Given the description of an element on the screen output the (x, y) to click on. 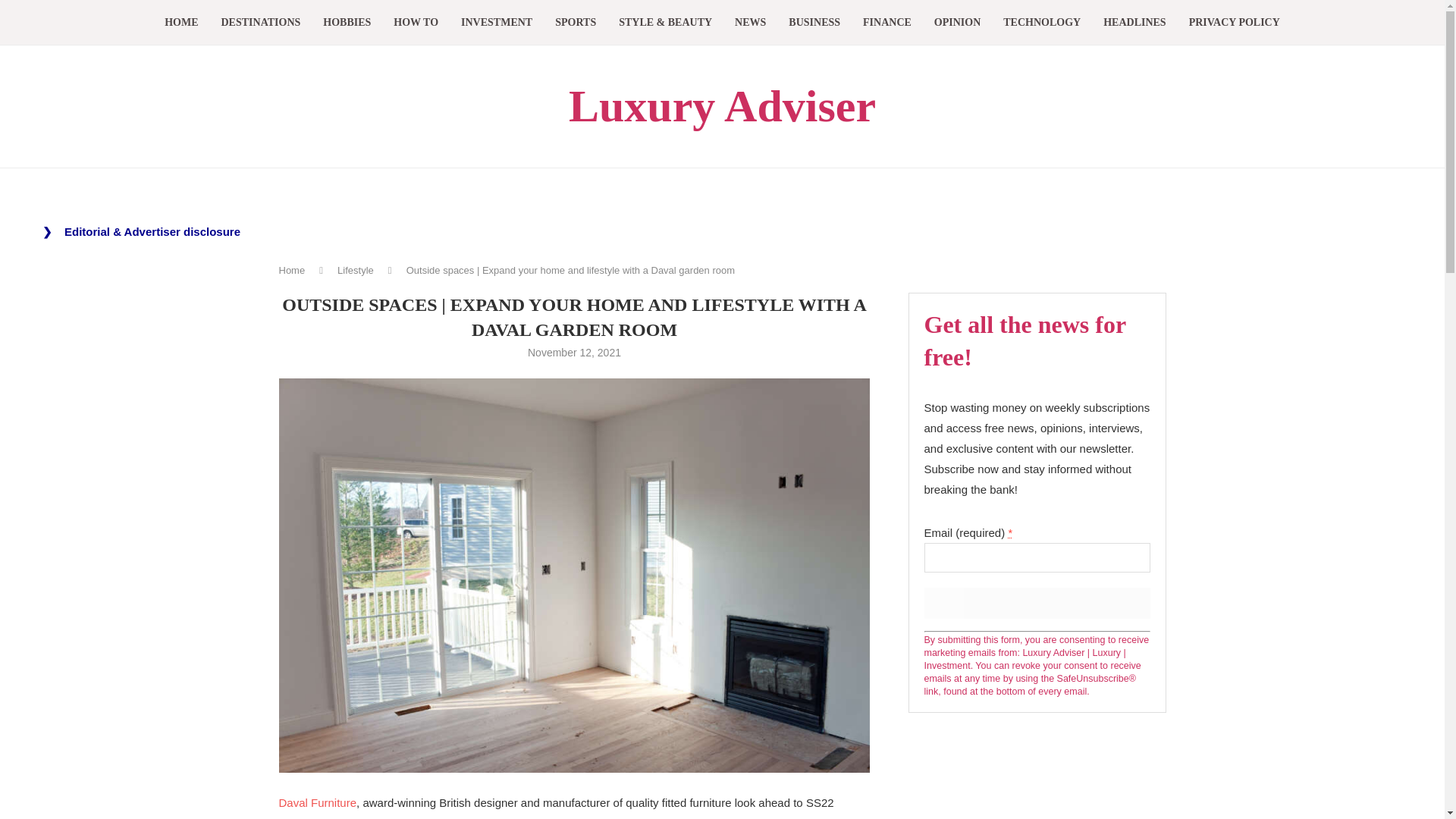
SPORTS (574, 22)
INVESTMENT (496, 22)
NEWS (750, 22)
TECHNOLOGY (1041, 22)
HOBBIES (347, 22)
HEADLINES (1134, 22)
Luxury Adviser (722, 106)
HOW TO (415, 22)
Home (292, 270)
HOME (181, 22)
required (1009, 532)
PRIVACY POLICY (1234, 22)
FINANCE (887, 22)
BUSINESS (814, 22)
Daval Furniture (317, 802)
